Given the description of an element on the screen output the (x, y) to click on. 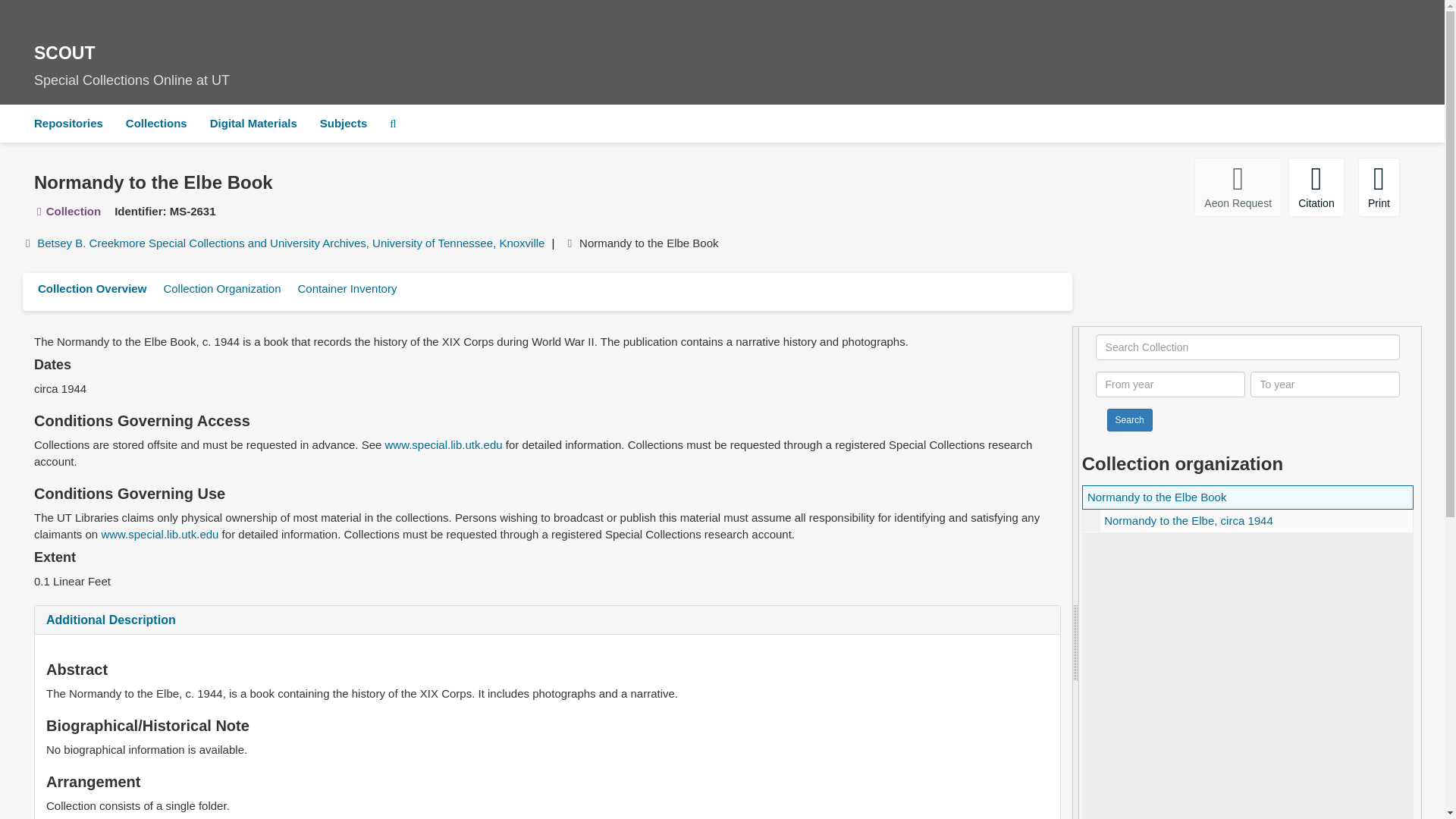
Collection Overview (91, 288)
www.special.lib.utk.edu (721, 61)
Subjects (443, 444)
Collection Organization (343, 123)
www.special.lib.utk.edu (221, 288)
Digital Materials (159, 533)
Citation (253, 123)
Normandy to the Elbe Book (1237, 187)
Additional Description (1315, 187)
Container Inventory (1156, 496)
Normandy to the Elbe, circa 1944 (111, 619)
Search (346, 288)
